Given the description of an element on the screen output the (x, y) to click on. 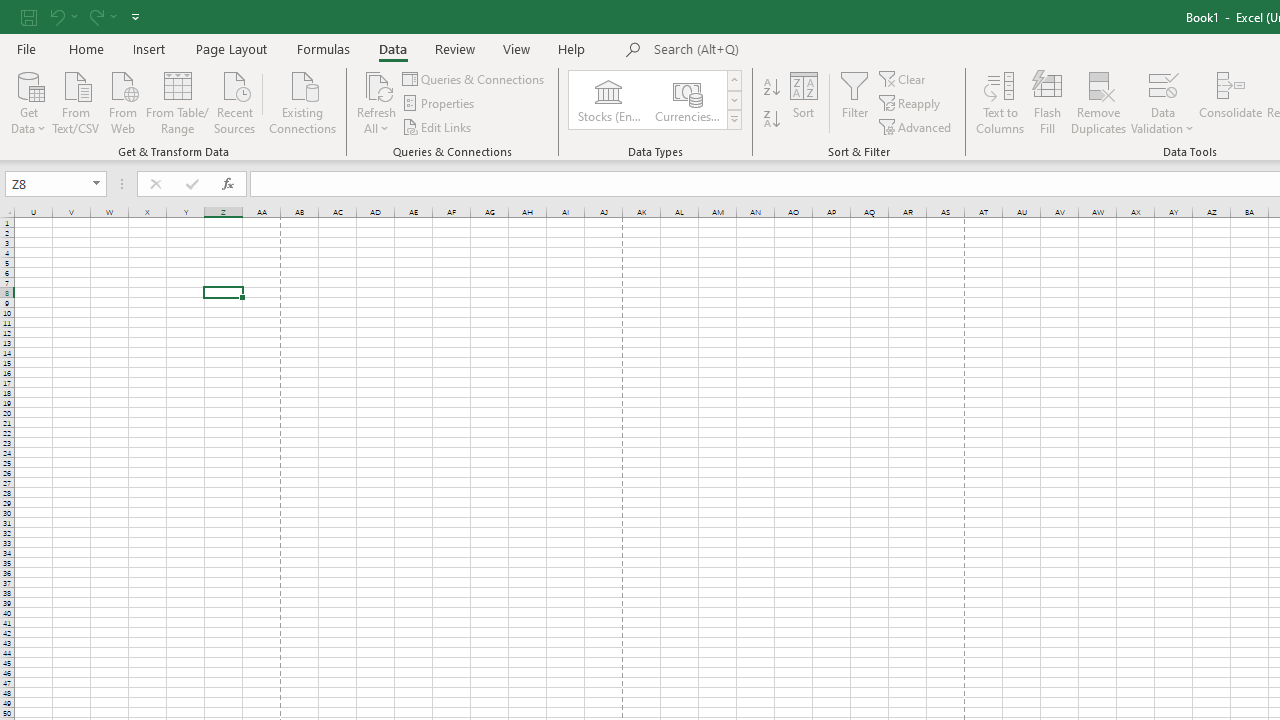
Data Types (734, 120)
Get Data (28, 101)
Filter (854, 102)
Recent Sources (235, 101)
Row Down (734, 100)
Stocks (English) (608, 100)
AutomationID: ConvertToLinkedEntity (655, 99)
Edit Links (438, 126)
